Given the description of an element on the screen output the (x, y) to click on. 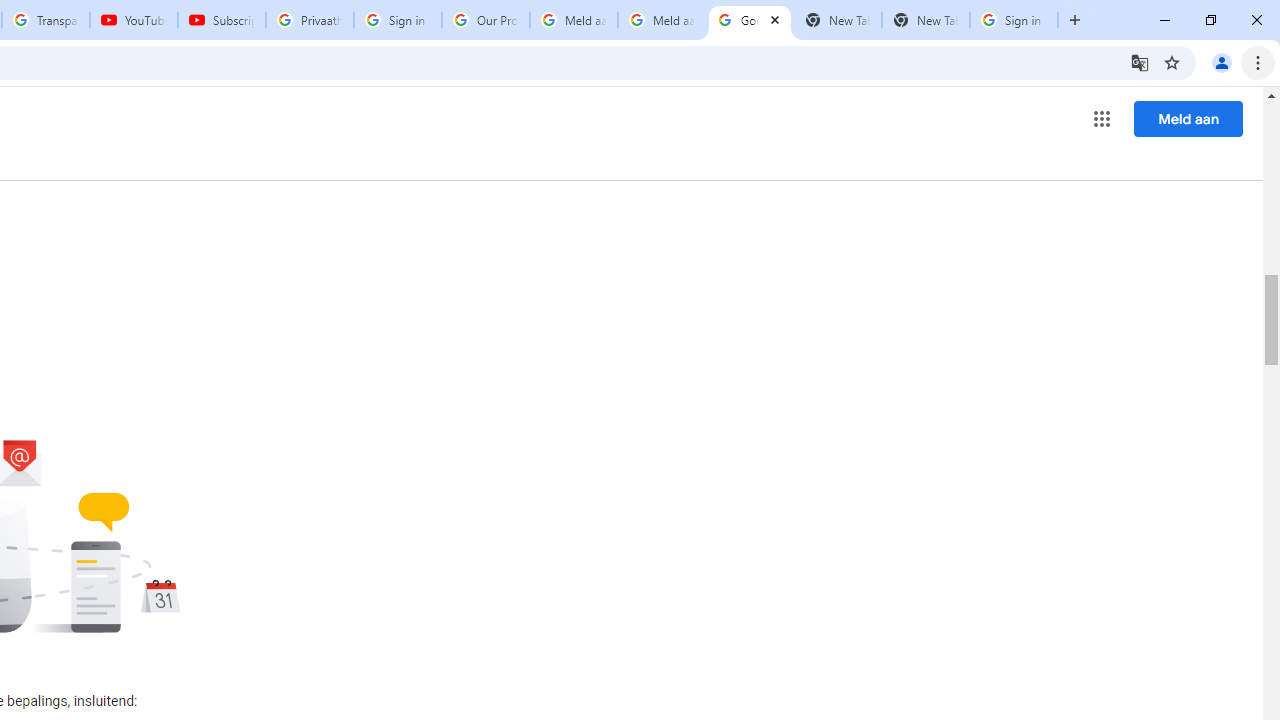
Google-programme (1101, 118)
Translate this page (1139, 62)
Sign in - Google Accounts (397, 20)
Meld aan (1188, 118)
YouTube (133, 20)
